Given the description of an element on the screen output the (x, y) to click on. 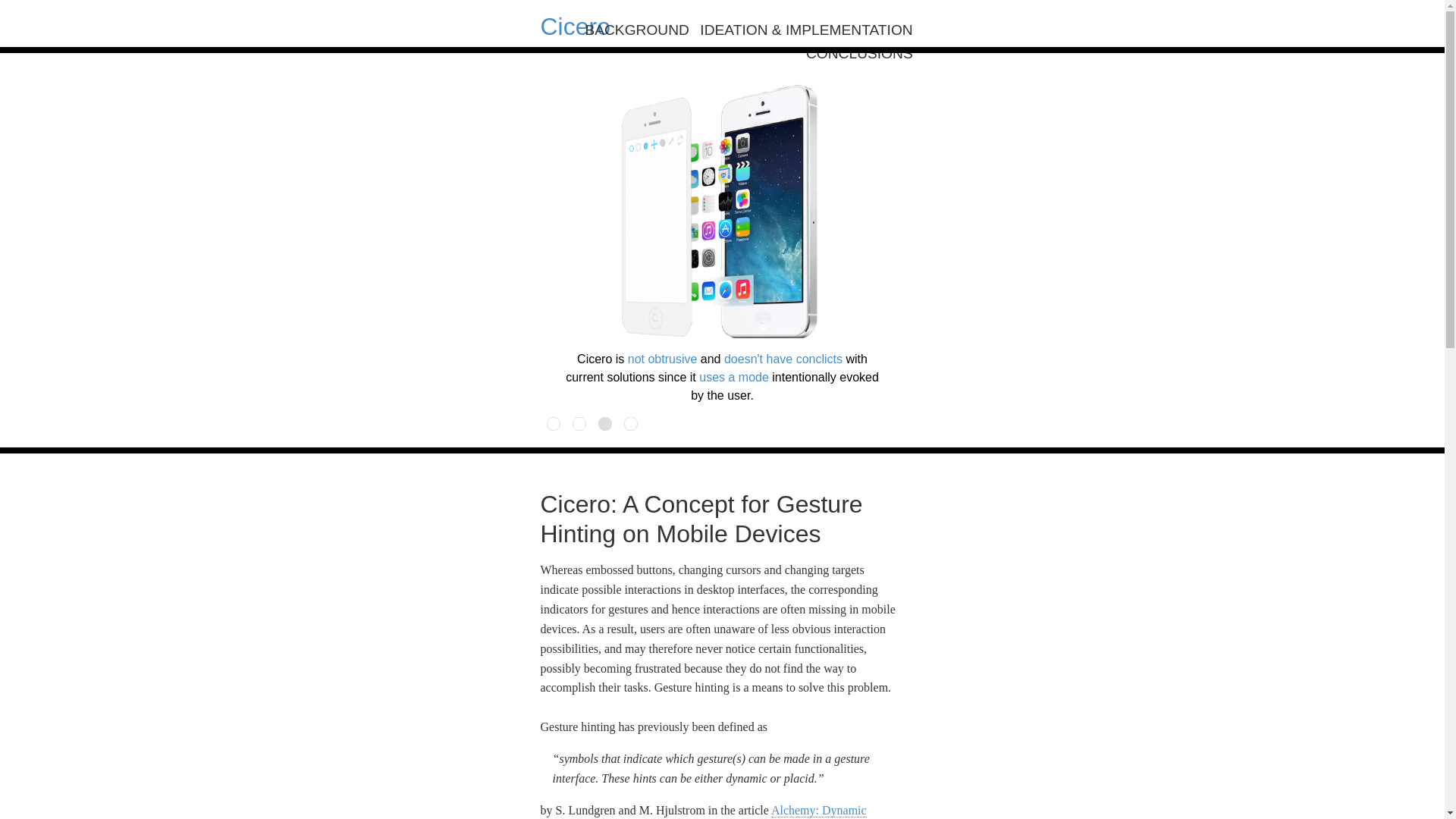
BACKGROUND (636, 29)
Alchemy: Dynamic Gesture Hinting for Mobile Devices (703, 811)
CONCLUSIONS (859, 53)
